Given the description of an element on the screen output the (x, y) to click on. 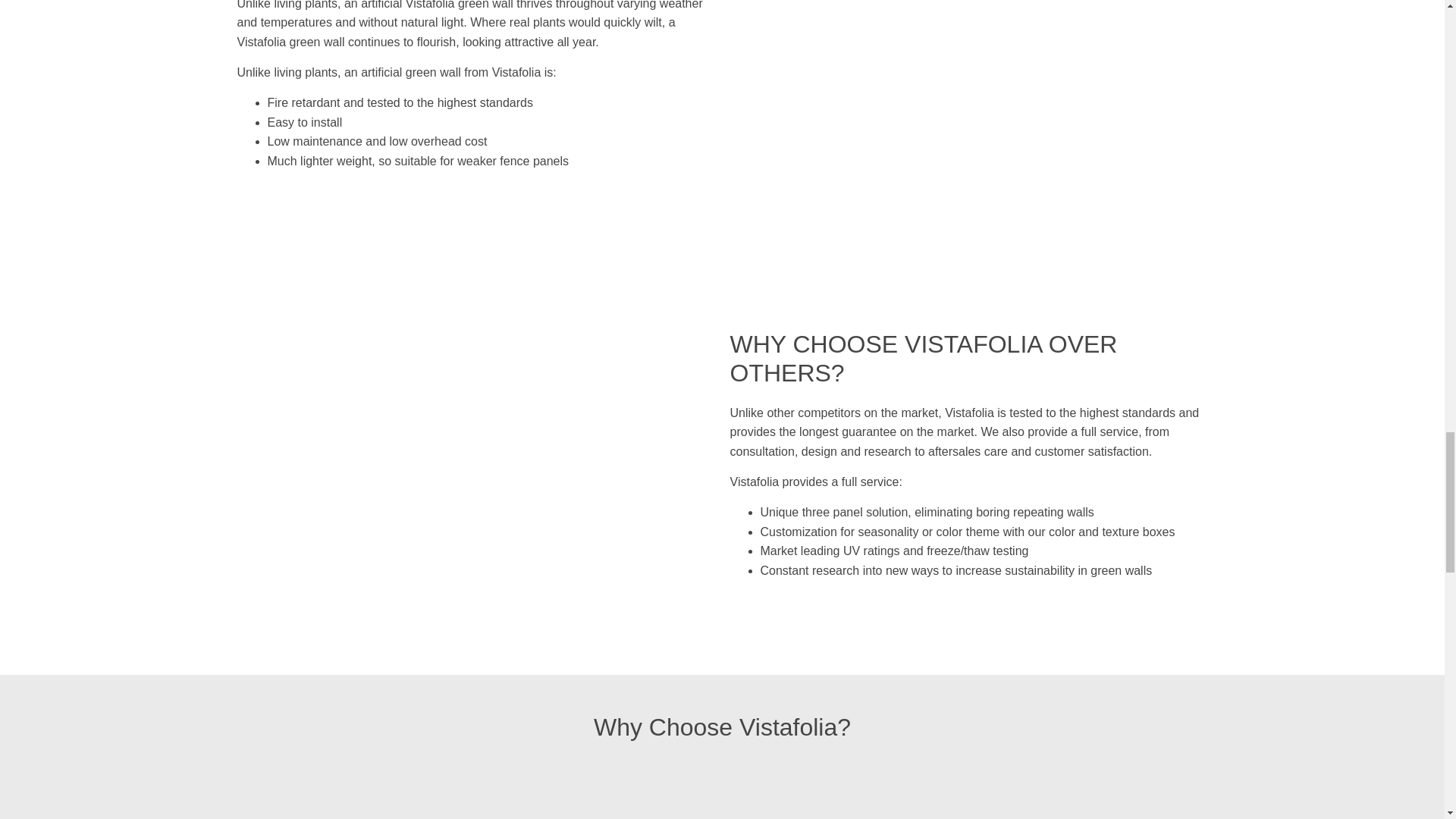
Vistafolia garden artificial green wall (843, 790)
Close up of White-Flowers Within Artificial Green Wall (358, 790)
beautiful realistic plant wall in office (601, 790)
